Given the description of an element on the screen output the (x, y) to click on. 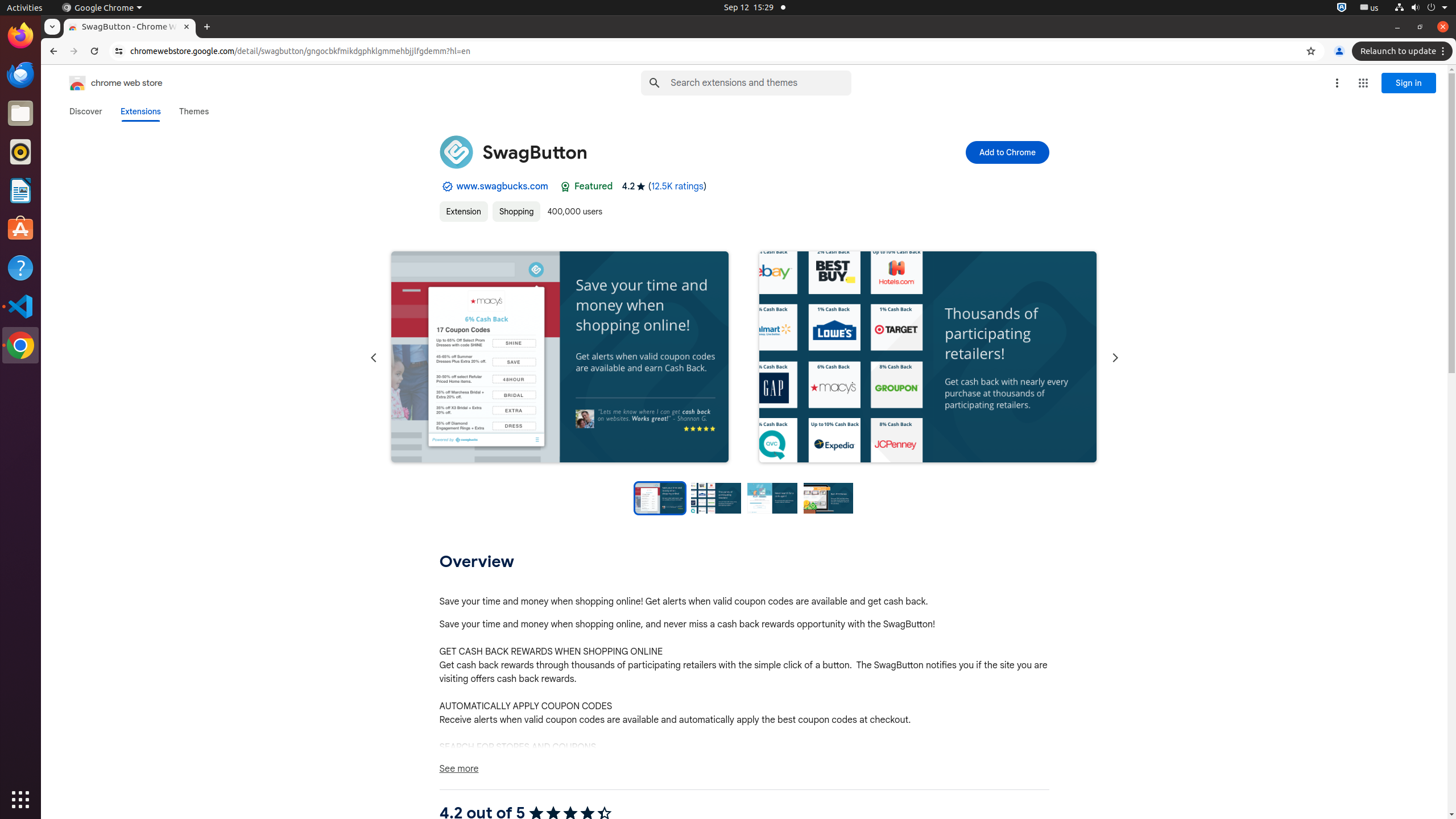
Item media 1 screenshot Element type: push-button (559, 357)
Forward Element type: push-button (73, 50)
